Given the description of an element on the screen output the (x, y) to click on. 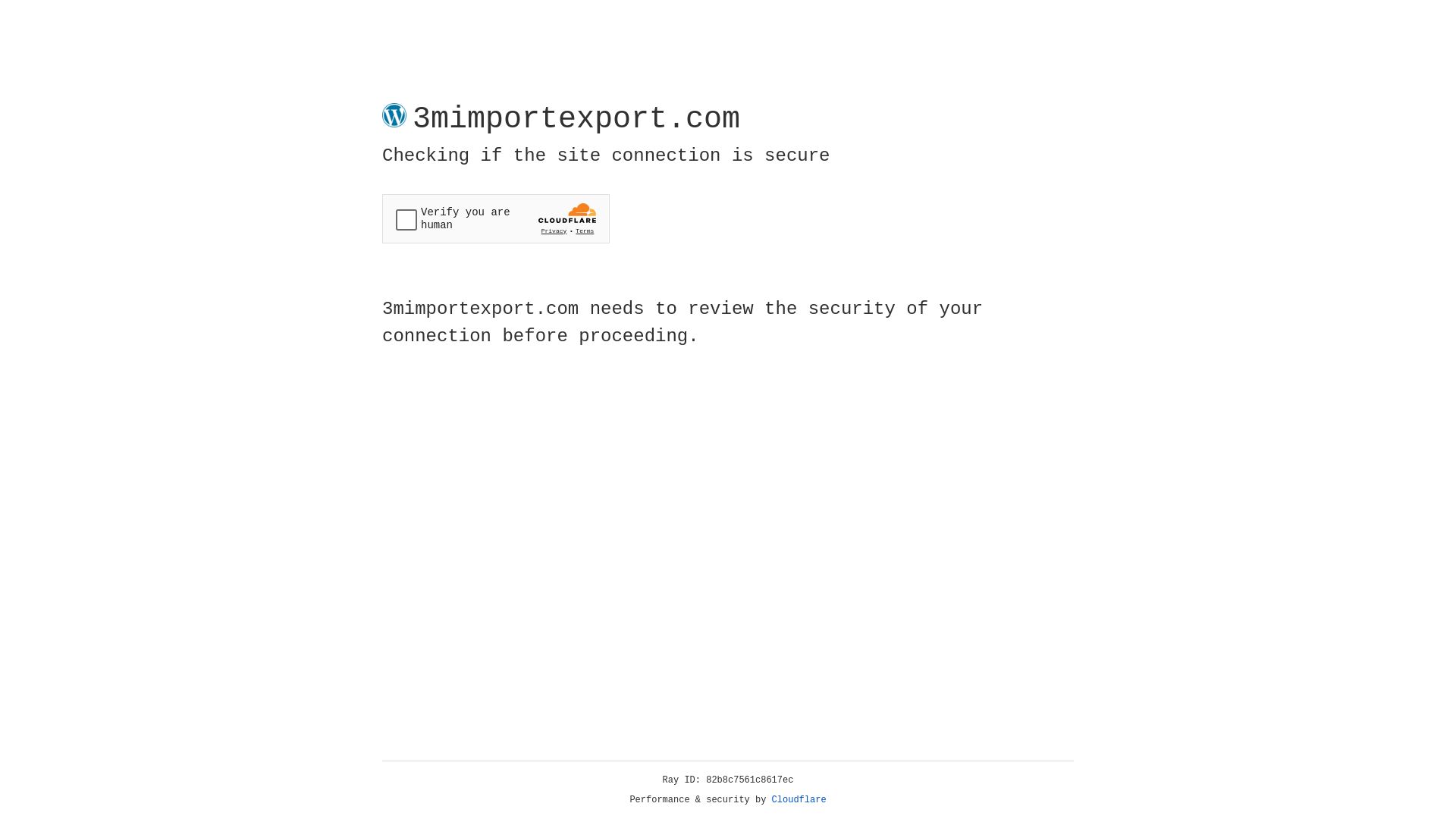
Cloudflare Element type: text (798, 799)
Widget containing a Cloudflare security challenge Element type: hover (495, 218)
